Given the description of an element on the screen output the (x, y) to click on. 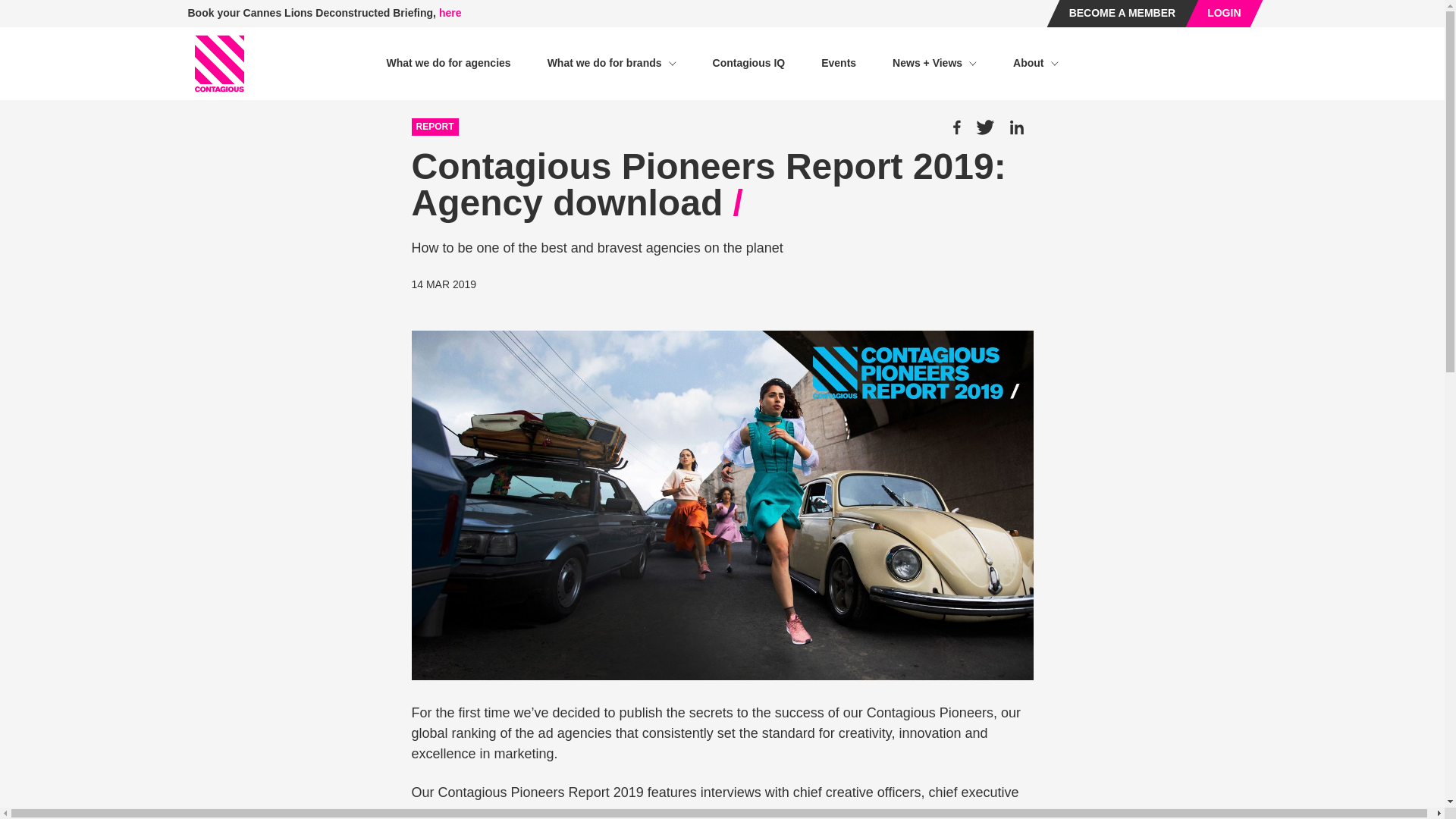
here (450, 12)
SHARE ON LINKEDIN (1016, 127)
Contagious IQ (749, 63)
SHARE ON TWITTER (985, 127)
LOGIN (1223, 13)
Events (838, 63)
What we do for agencies (448, 63)
BECOME A MEMBER (1122, 13)
